Given the description of an element on the screen output the (x, y) to click on. 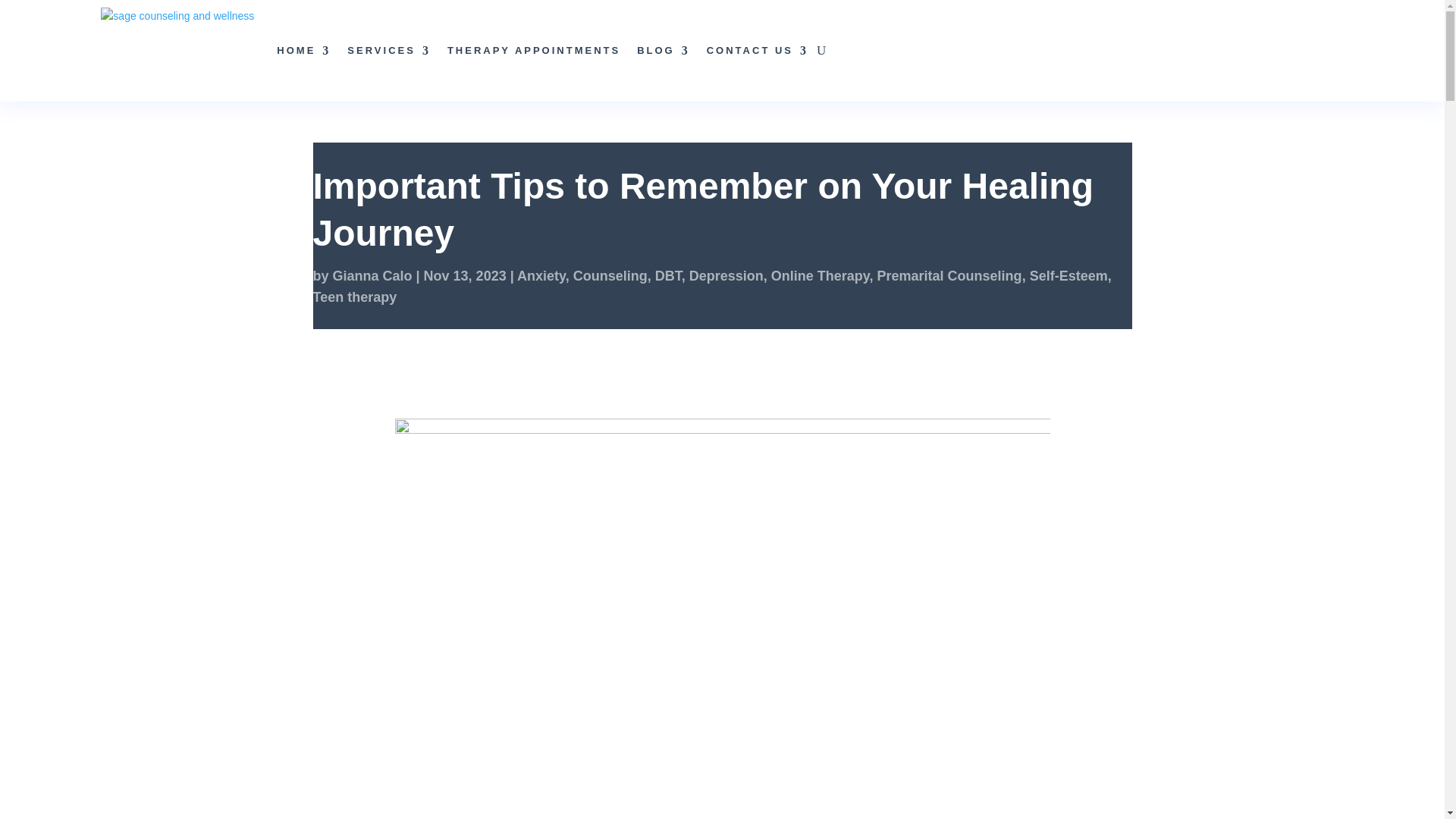
Gianna Calo (372, 275)
CONTACT US (757, 50)
SERVICES (388, 50)
Posts by Gianna Calo (372, 275)
Anxiety (541, 275)
Counseling (610, 275)
THERAPY APPOINTMENTS (533, 50)
DBT (668, 275)
